Given the description of an element on the screen output the (x, y) to click on. 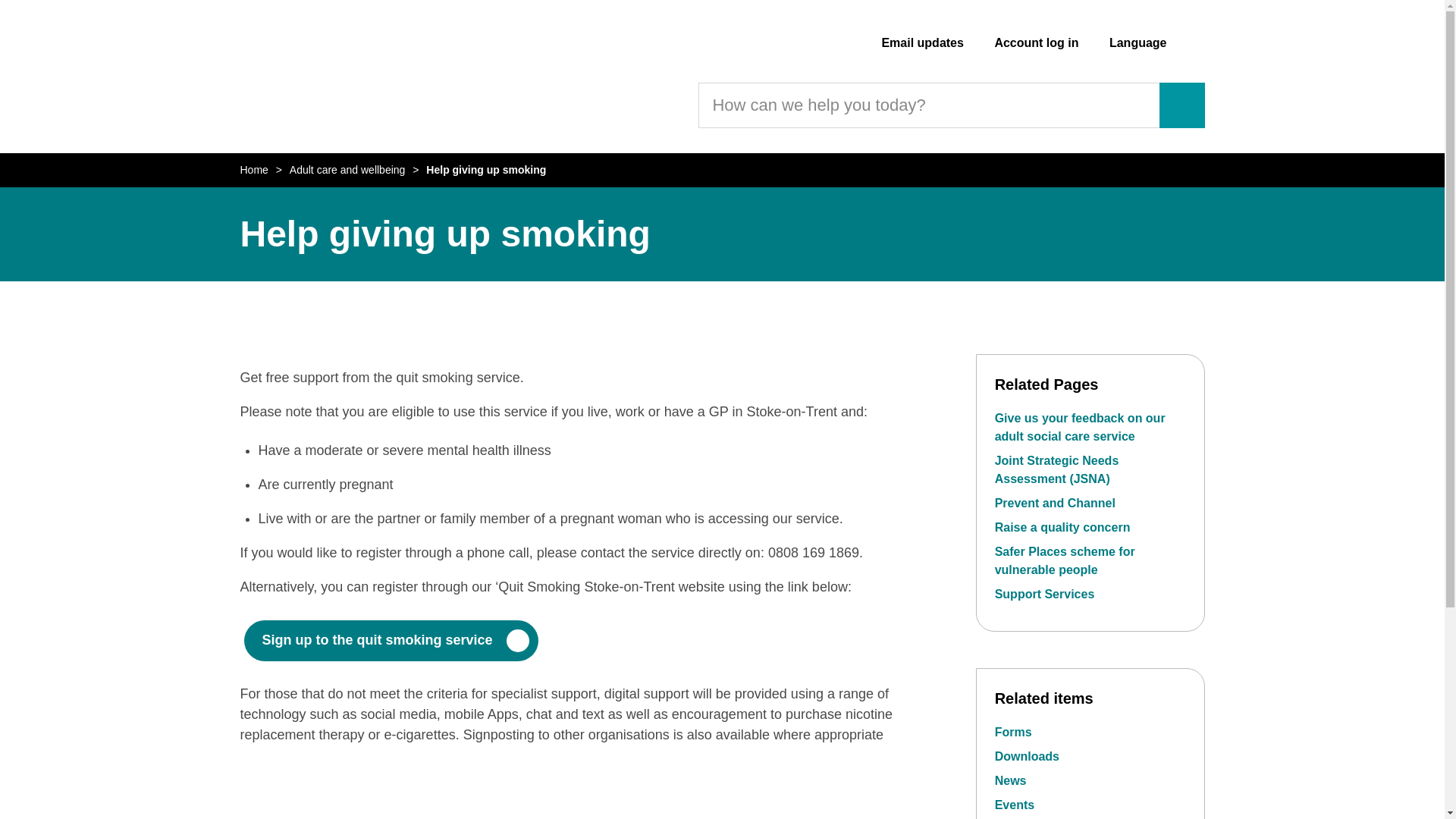
Give us your feedback on our adult social care service (1080, 427)
Account log in (1036, 42)
Forms (1013, 731)
Events (1013, 804)
News (1010, 780)
Adult care and wellbeing (347, 170)
Home (253, 170)
Prevent and Channel (1054, 502)
Email updates (921, 42)
